Given the description of an element on the screen output the (x, y) to click on. 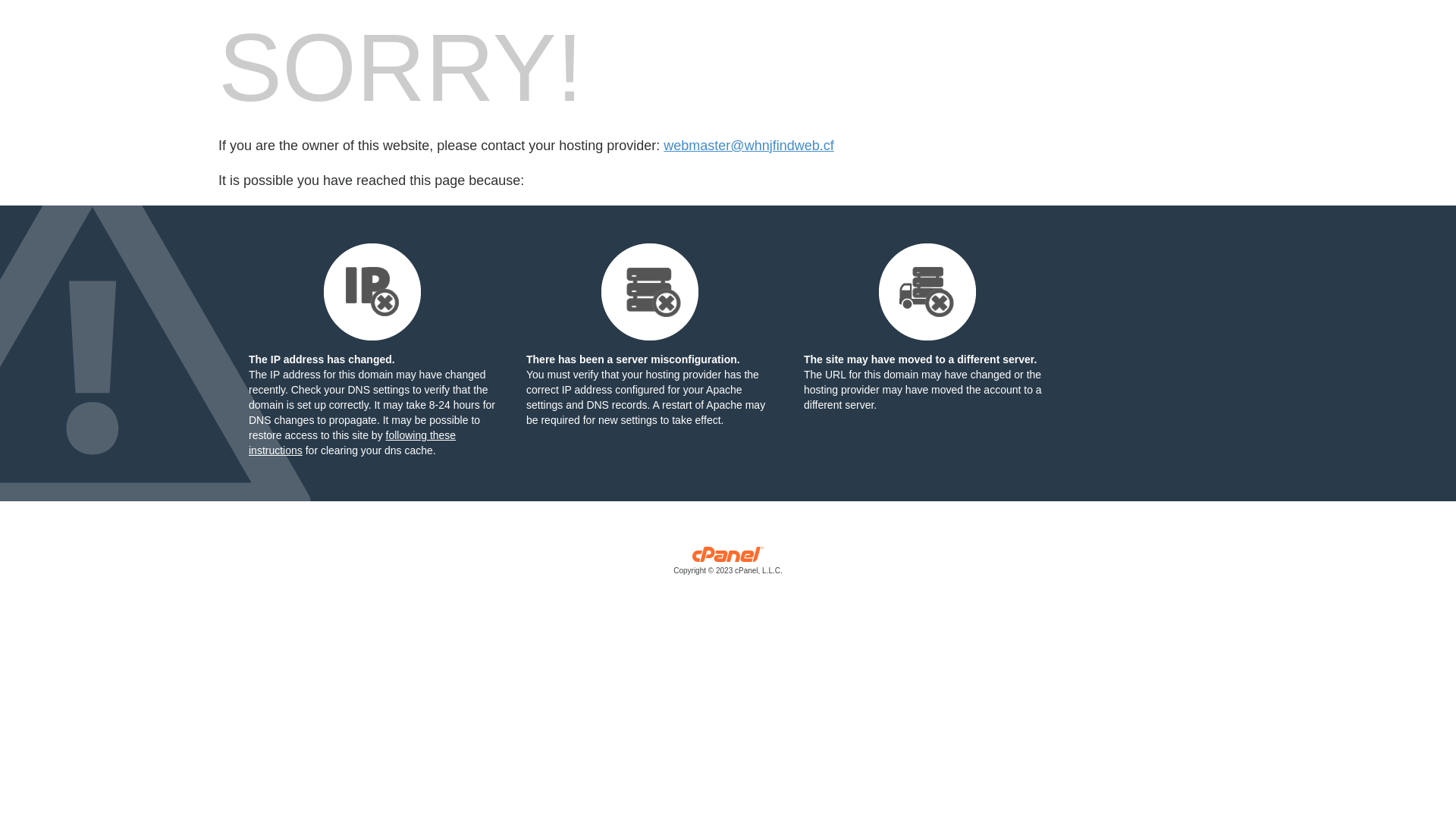
webmaster@whnjfindweb.cf Element type: text (748, 145)
following these instructions Element type: text (351, 442)
